Given the description of an element on the screen output the (x, y) to click on. 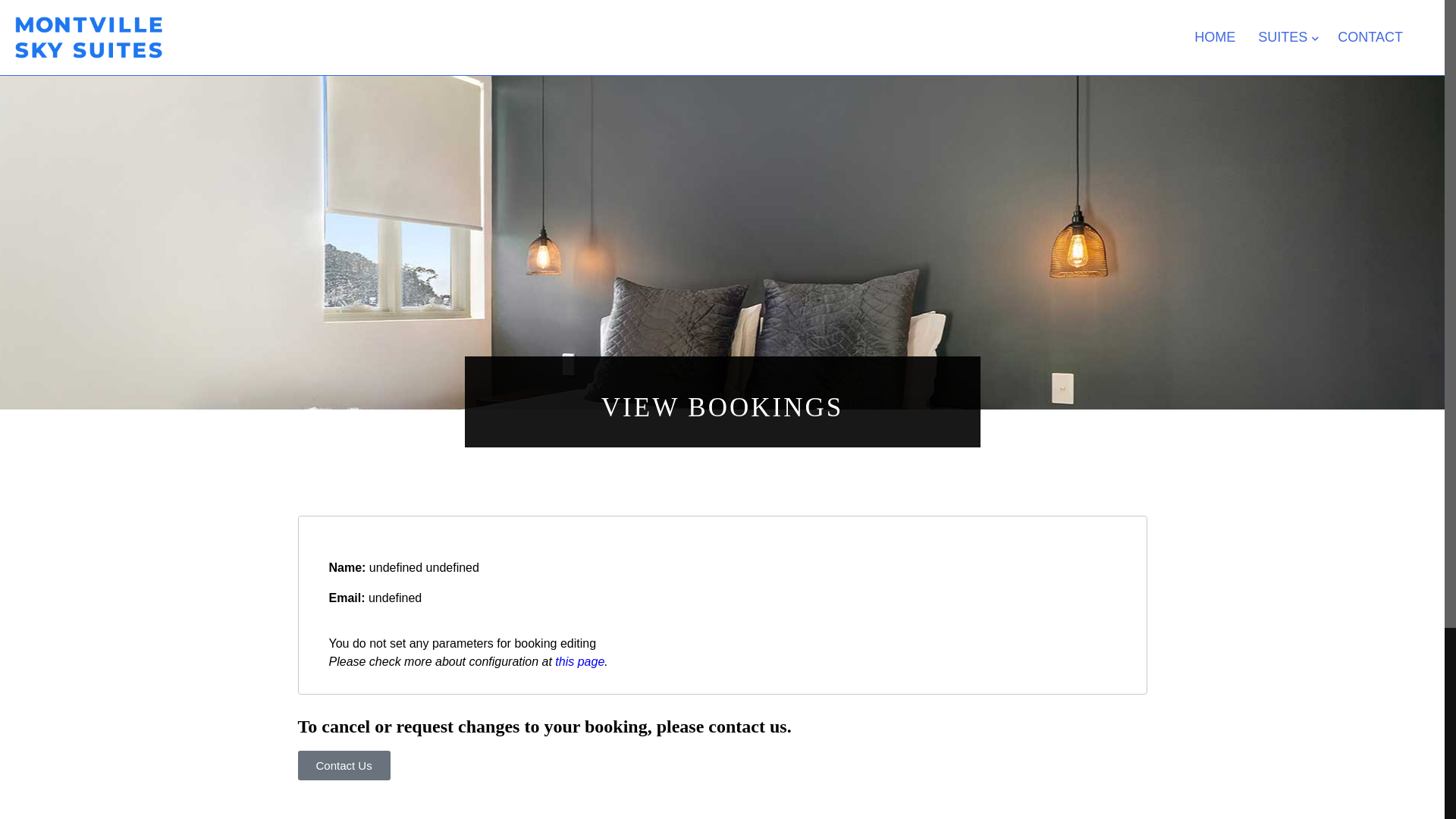
this page Element type: text (579, 661)
SUITES Element type: text (1286, 37)
CONTACT Element type: text (1370, 37)
Contact Us Element type: text (343, 765)
HOME Element type: text (1214, 37)
